Given the description of an element on the screen output the (x, y) to click on. 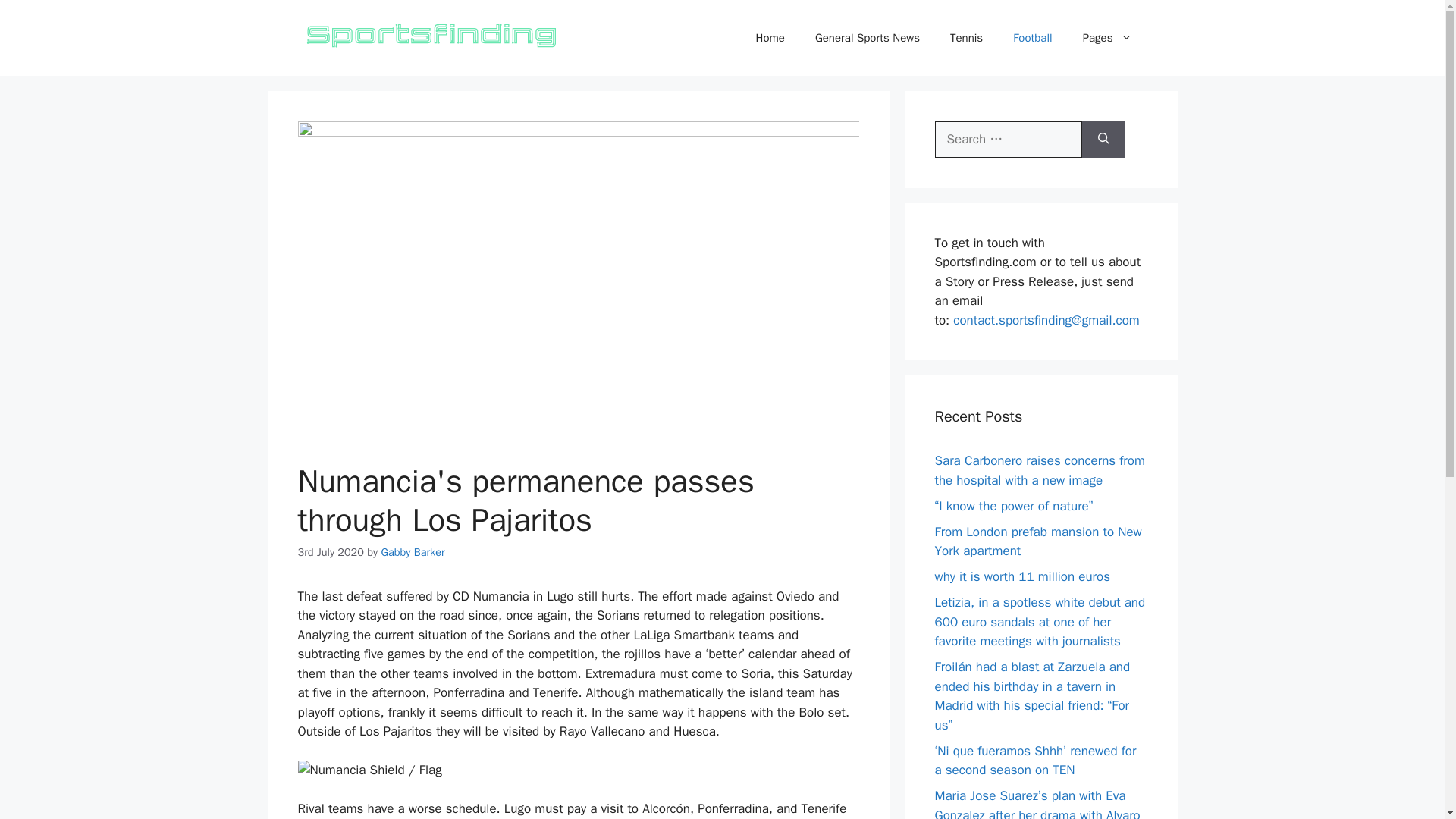
General Sports News (866, 37)
Pages (1107, 37)
From London prefab mansion to New York apartment (1037, 540)
Search for: (1007, 139)
View all posts by Gabby Barker (412, 551)
Gabby Barker (412, 551)
why it is worth 11 million euros (1021, 576)
Home (770, 37)
Tennis (965, 37)
Football (1032, 37)
